Given the description of an element on the screen output the (x, y) to click on. 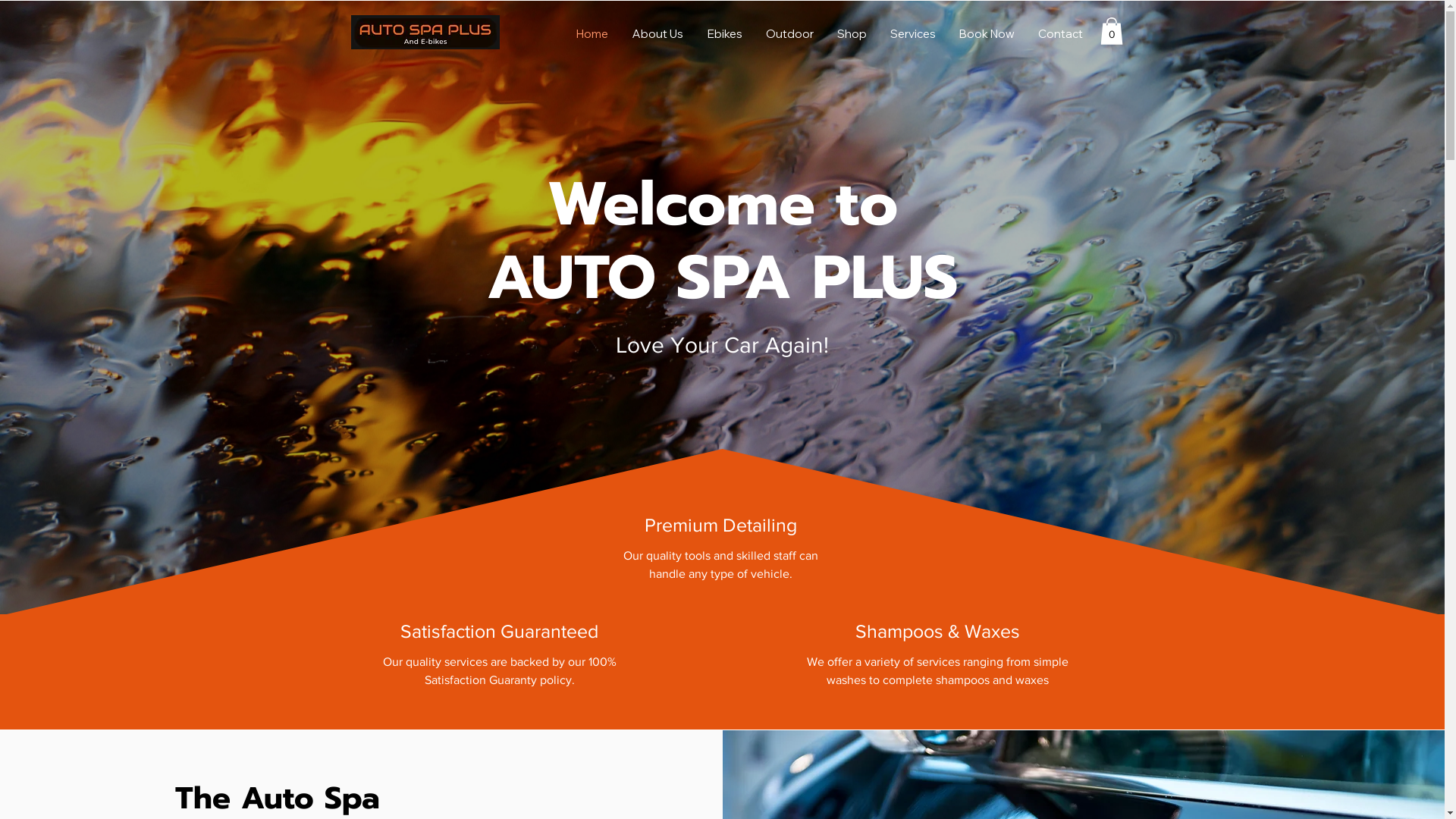
Book Now Element type: text (985, 34)
Outdoor Element type: text (789, 34)
Services Element type: text (912, 34)
Home Element type: text (590, 34)
Ebikes Element type: text (723, 34)
Contact Element type: text (1059, 34)
About Us Element type: text (655, 34)
0 Element type: text (1110, 30)
